Given the description of an element on the screen output the (x, y) to click on. 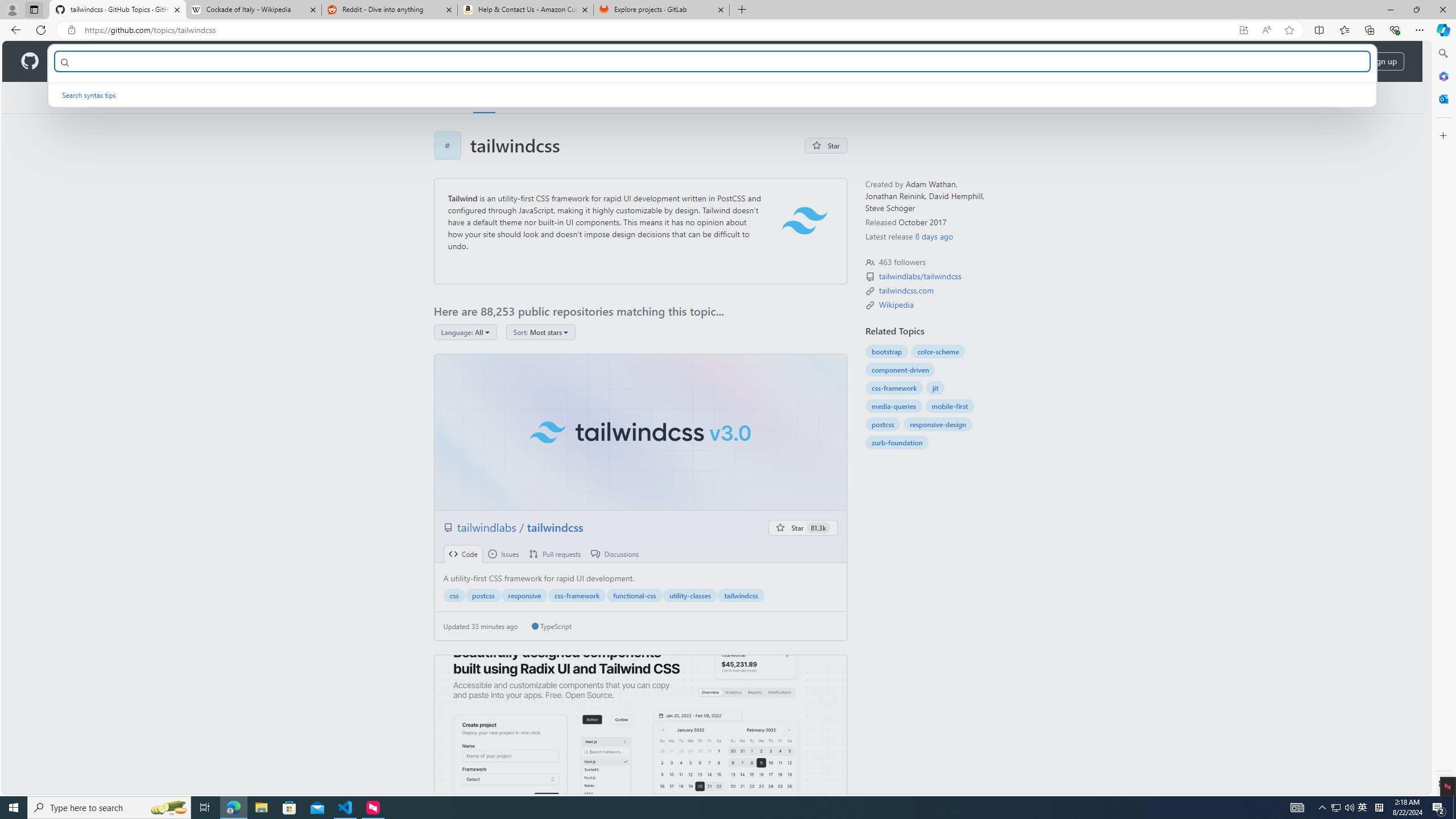
Trending (524, 97)
media-queries (893, 405)
Events (616, 97)
 Pull requests (555, 553)
Solutions (128, 60)
Product (74, 60)
en.wikipedia.org/wiki/Tailwind_CSS (896, 304)
postcss (882, 423)
Topics (484, 97)
Enterprise (319, 60)
